Given the description of an element on the screen output the (x, y) to click on. 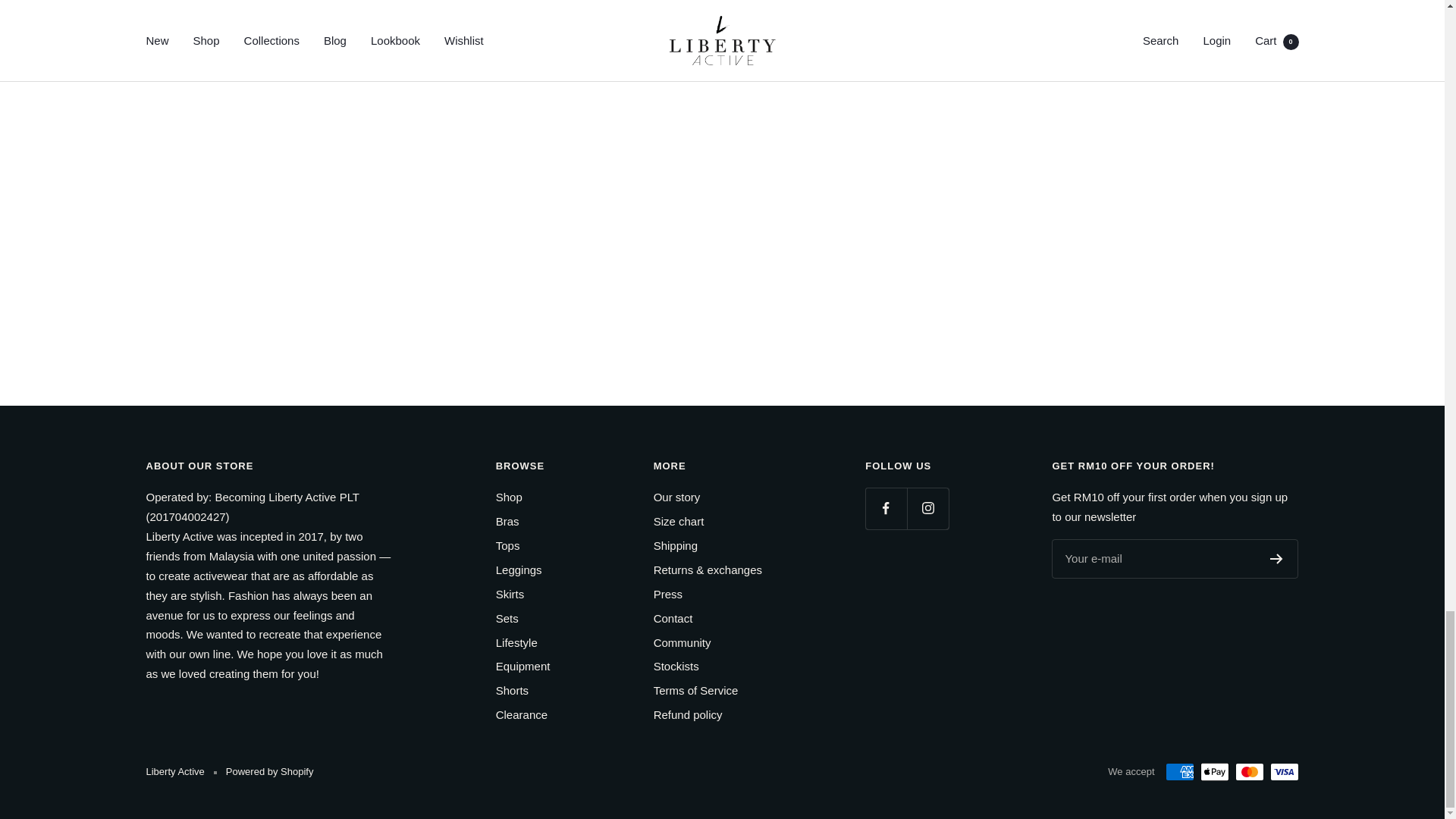
Shop (509, 496)
Leggings (518, 569)
Bras (507, 521)
Sets (507, 618)
Tops (507, 546)
Register (1275, 558)
Skirts (510, 594)
